Given the description of an element on the screen output the (x, y) to click on. 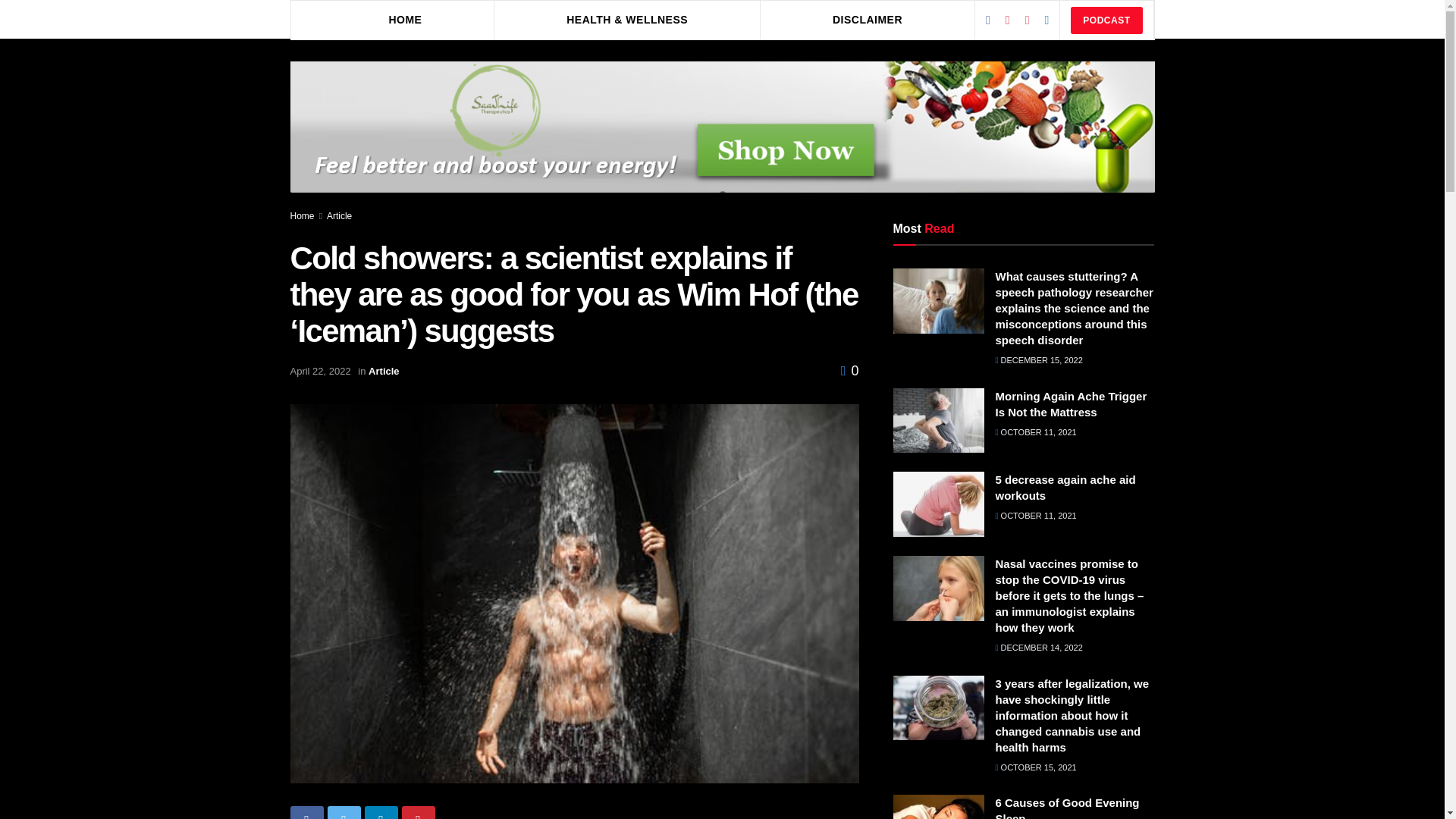
Article (383, 370)
PODCAST (1105, 20)
April 22, 2022 (319, 370)
DISCLAIMER (867, 19)
0 (850, 370)
Article (339, 215)
Home (301, 215)
HOME (405, 19)
